Given the description of an element on the screen output the (x, y) to click on. 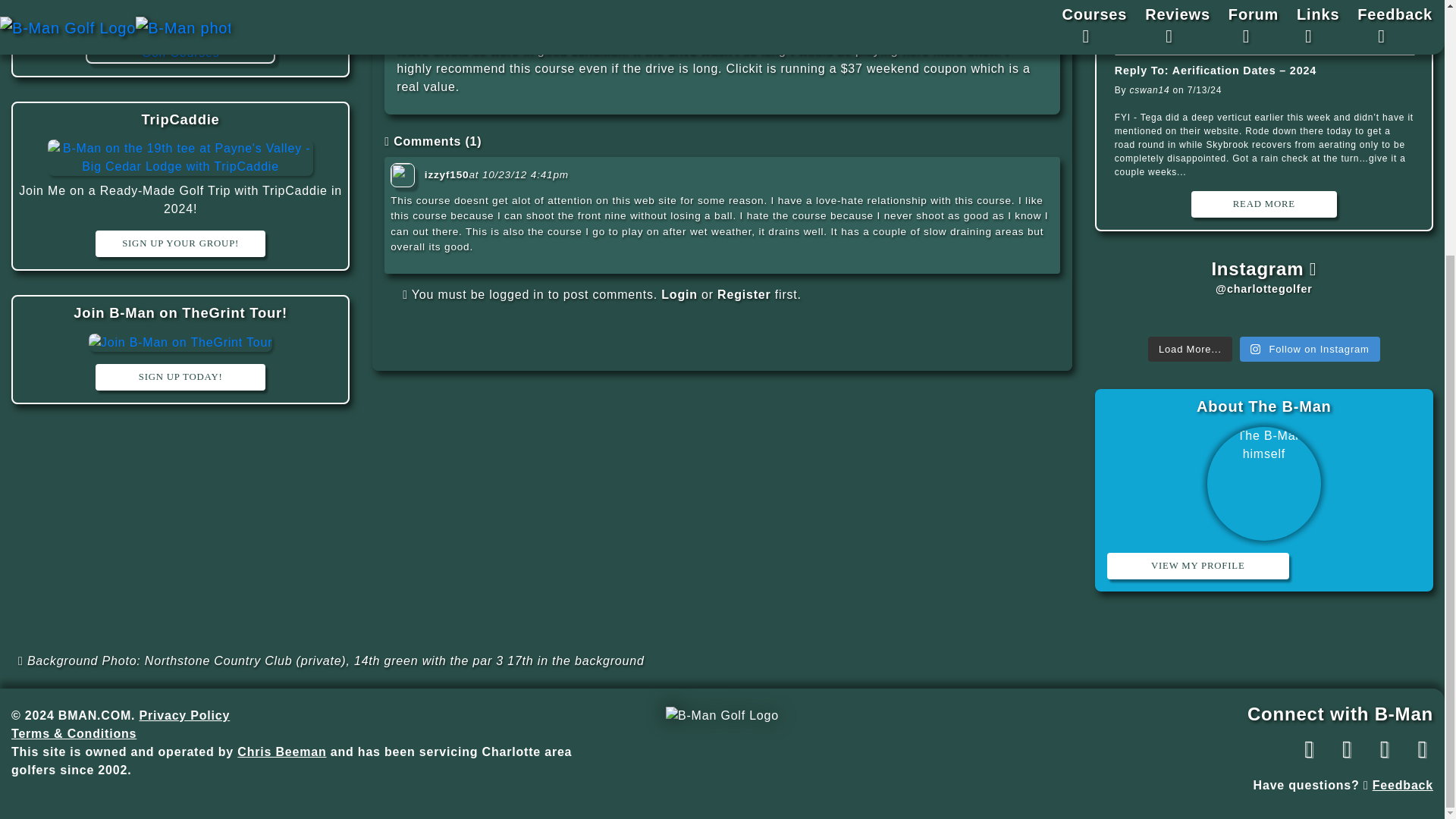
Join B-Man on TheGrint Tour (180, 341)
Join B-Man on TheGrint Tour! (180, 312)
TripCaddie.com - Golf Trips Done Right (180, 119)
SIGN UP YOUR GROUP! (180, 243)
Join B-Man on TheGrint Tour (180, 312)
izzyf150 (446, 174)
TripCaddie.com - Golf Trips Done Right (180, 159)
Map of Courses (180, 6)
